Given the description of an element on the screen output the (x, y) to click on. 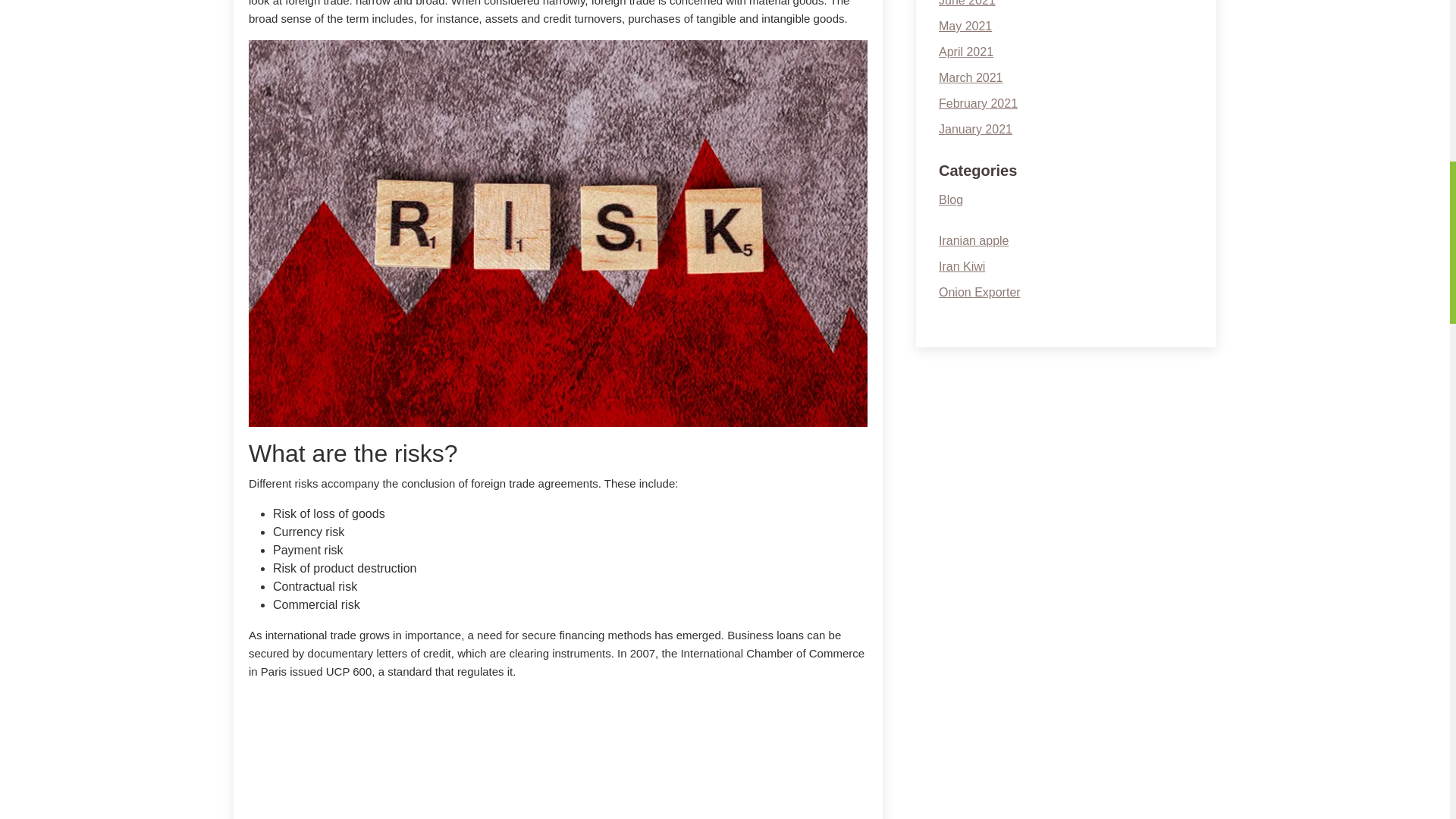
What is a letter of credit? (557, 755)
May 2021 (965, 25)
June 2021 (967, 3)
